Given the description of an element on the screen output the (x, y) to click on. 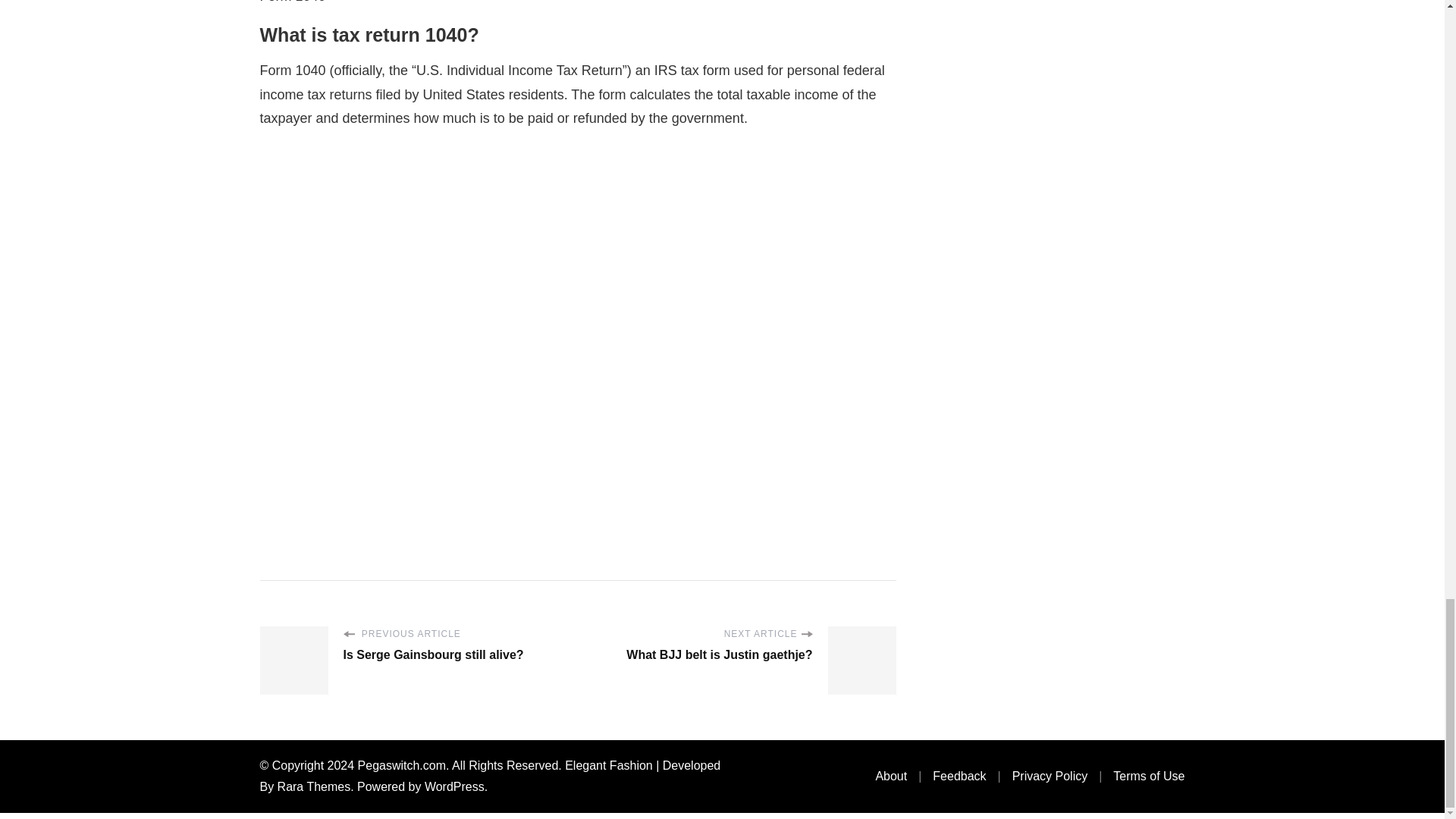
WordPress (454, 786)
Pegaswitch.com (401, 765)
Rara Themes (314, 786)
